Given the description of an element on the screen output the (x, y) to click on. 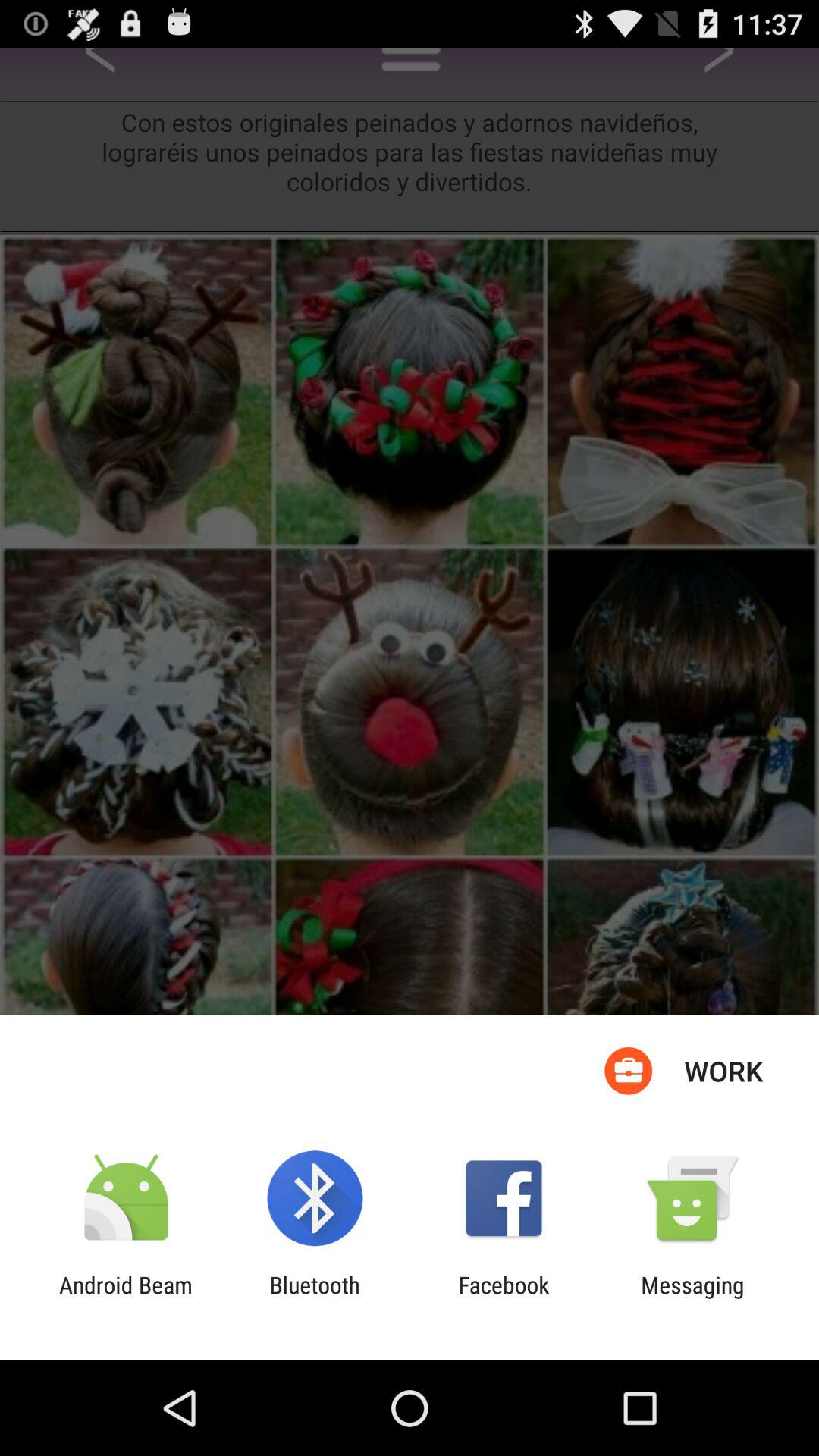
choose the icon to the right of facebook app (692, 1298)
